Given the description of an element on the screen output the (x, y) to click on. 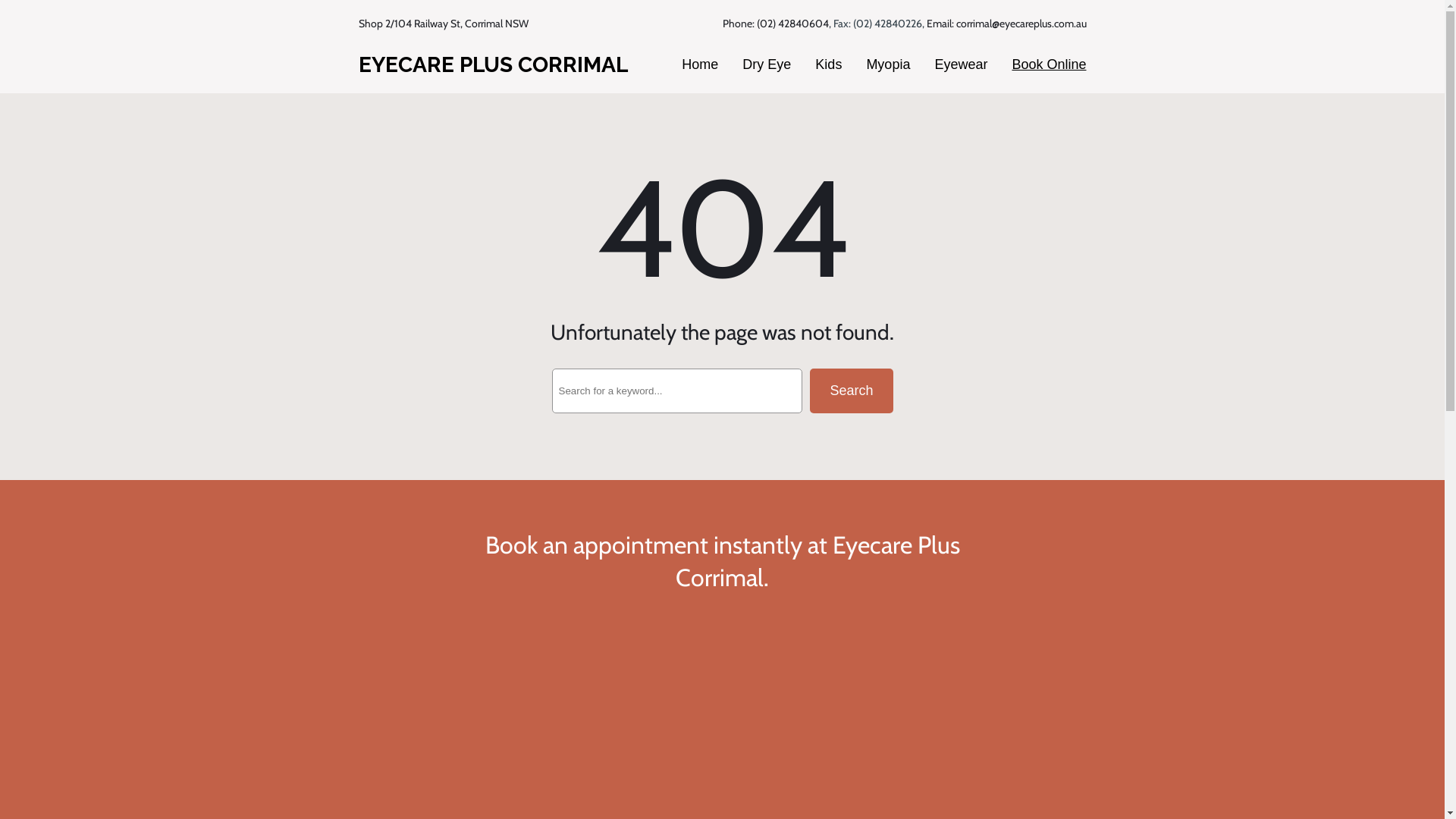
Search Element type: text (850, 390)
Dry Eye Element type: text (766, 64)
Myopia Element type: text (888, 64)
Email: corrimal@eyecareplus.com.au Element type: text (1006, 23)
Home Element type: text (699, 64)
Kids Element type: text (828, 64)
Eyewear Element type: text (960, 64)
EYECARE PLUS CORRIMAL Element type: text (492, 64)
Shop 2/104 Railway St, Corrimal Element type: text (429, 23)
Book Online Element type: text (1048, 64)
Phone: (02) 42840604 Element type: text (774, 23)
